Given the description of an element on the screen output the (x, y) to click on. 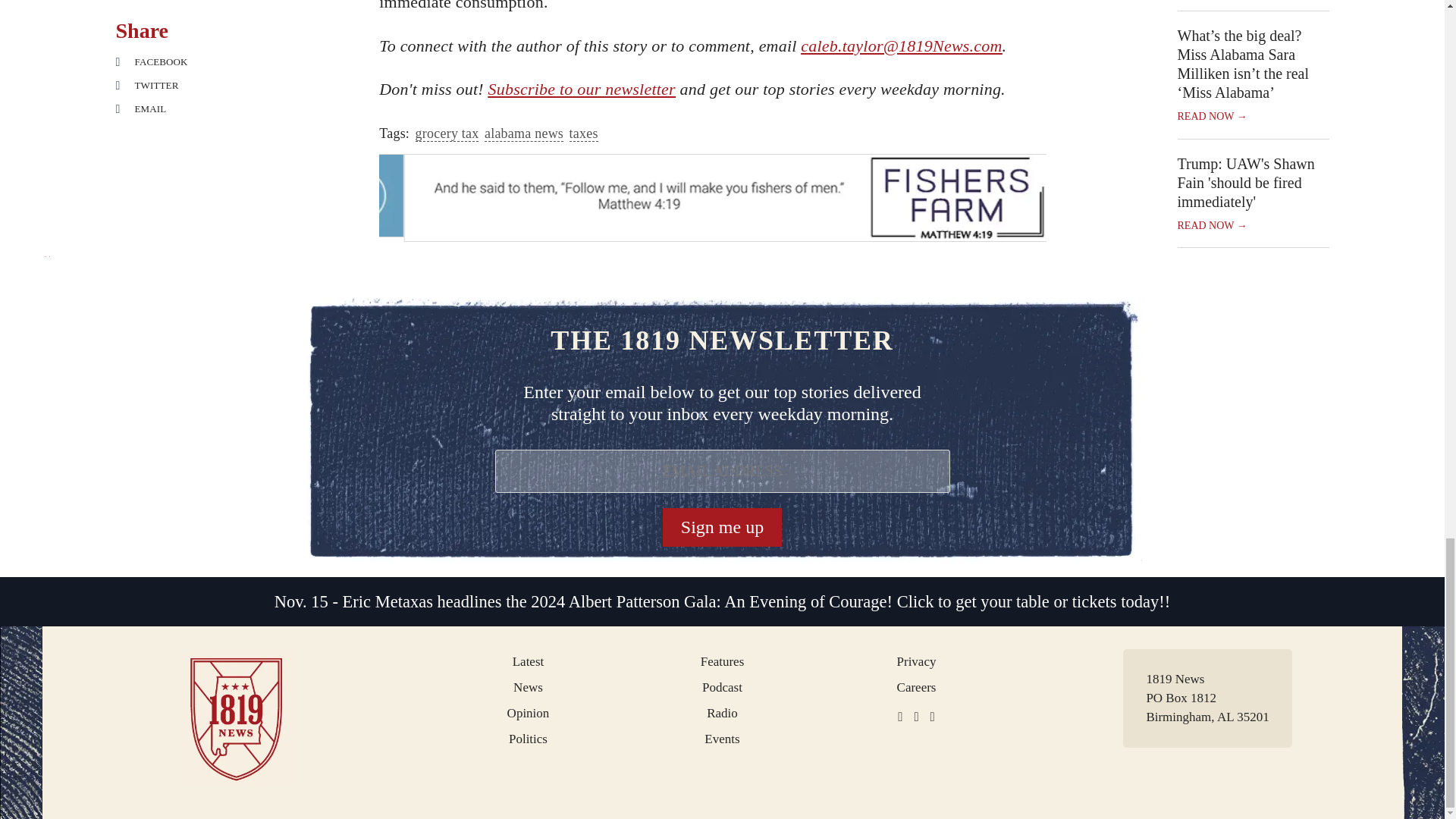
Lifeline730 Adoption October 2021 (712, 195)
